Given the description of an element on the screen output the (x, y) to click on. 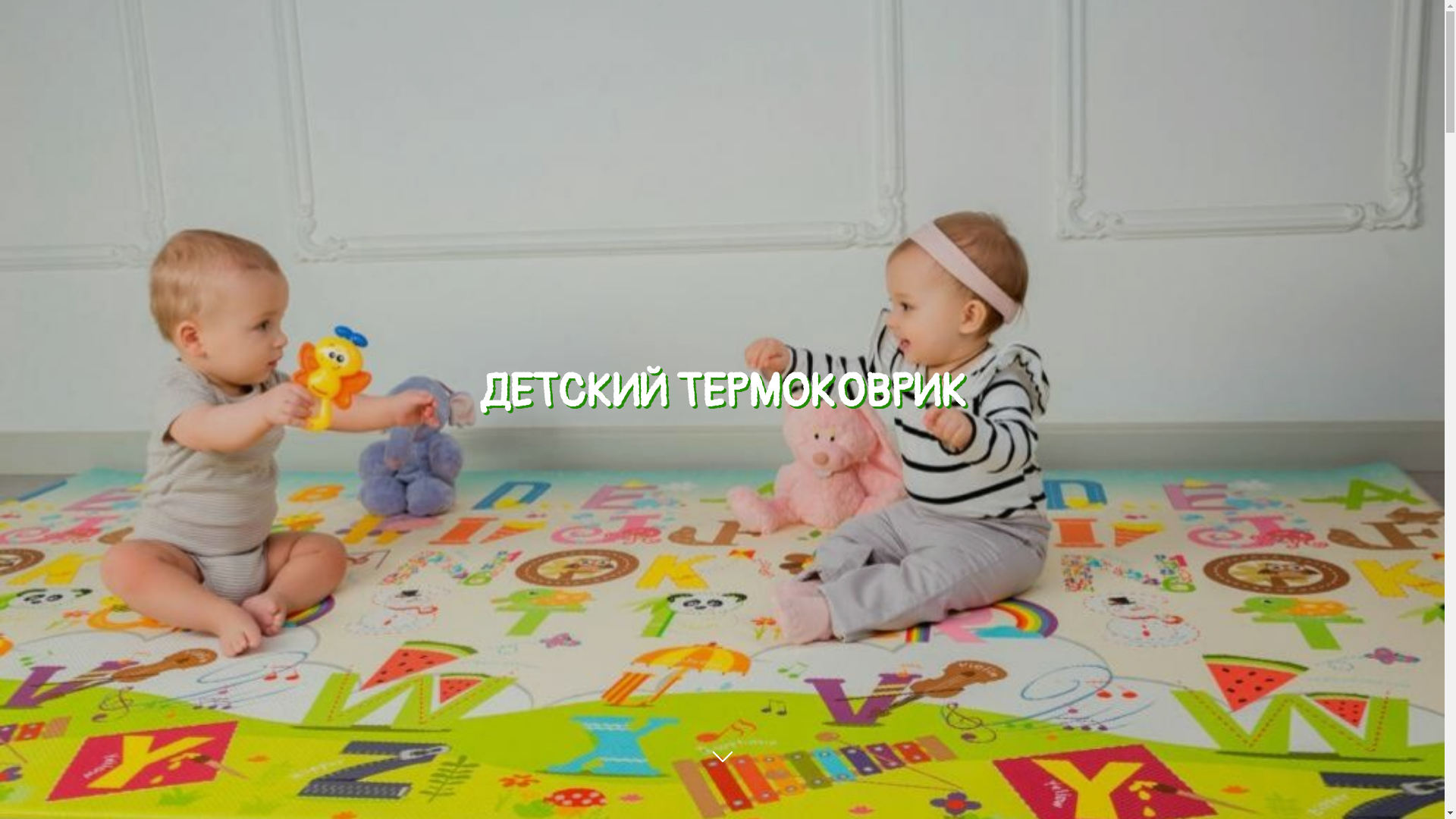
Get started Element type: text (722, 780)
